Given the description of an element on the screen output the (x, y) to click on. 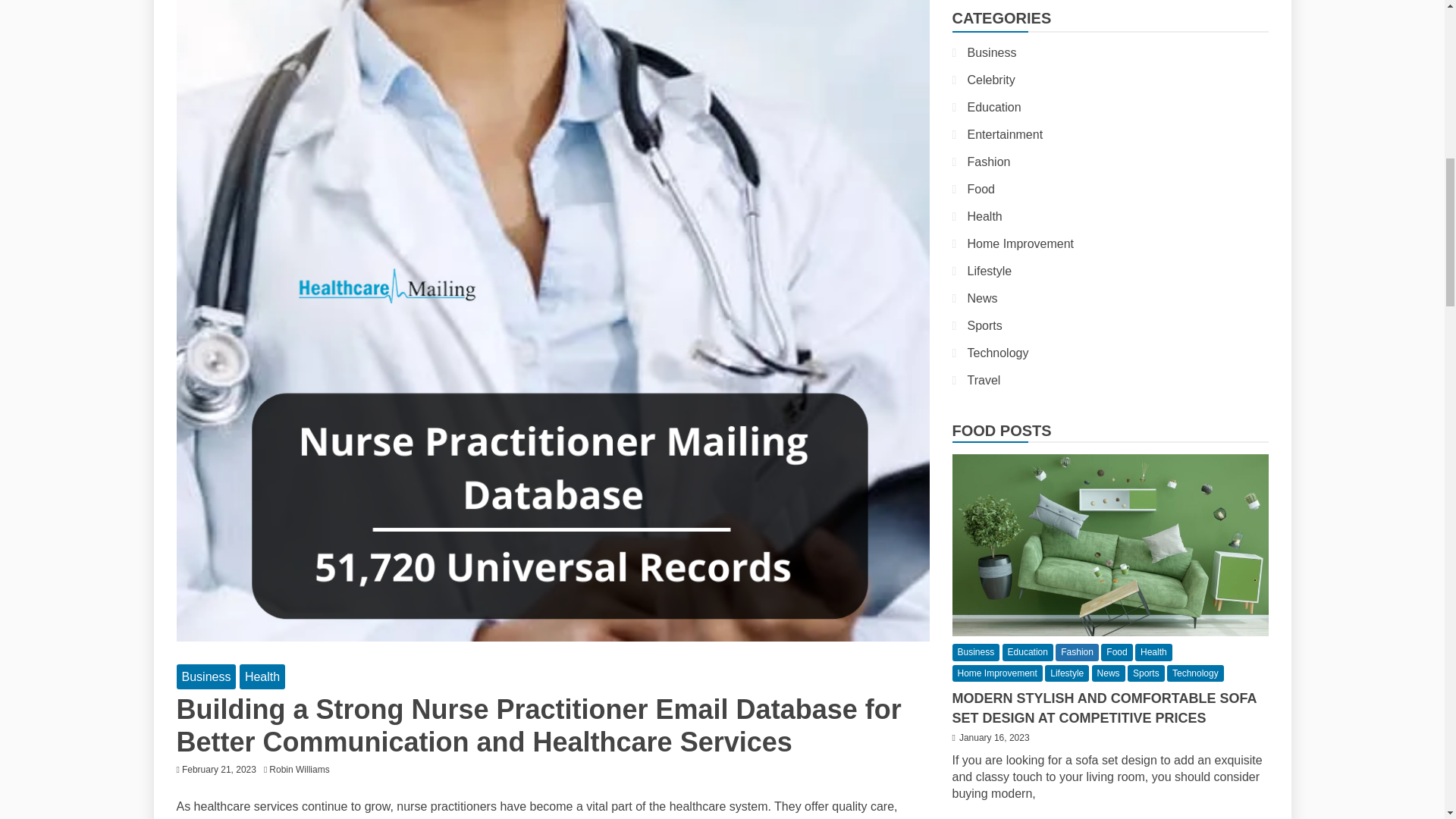
Robin Williams (302, 769)
February 21, 2023 (219, 769)
Health (262, 676)
Business (205, 676)
